Given the description of an element on the screen output the (x, y) to click on. 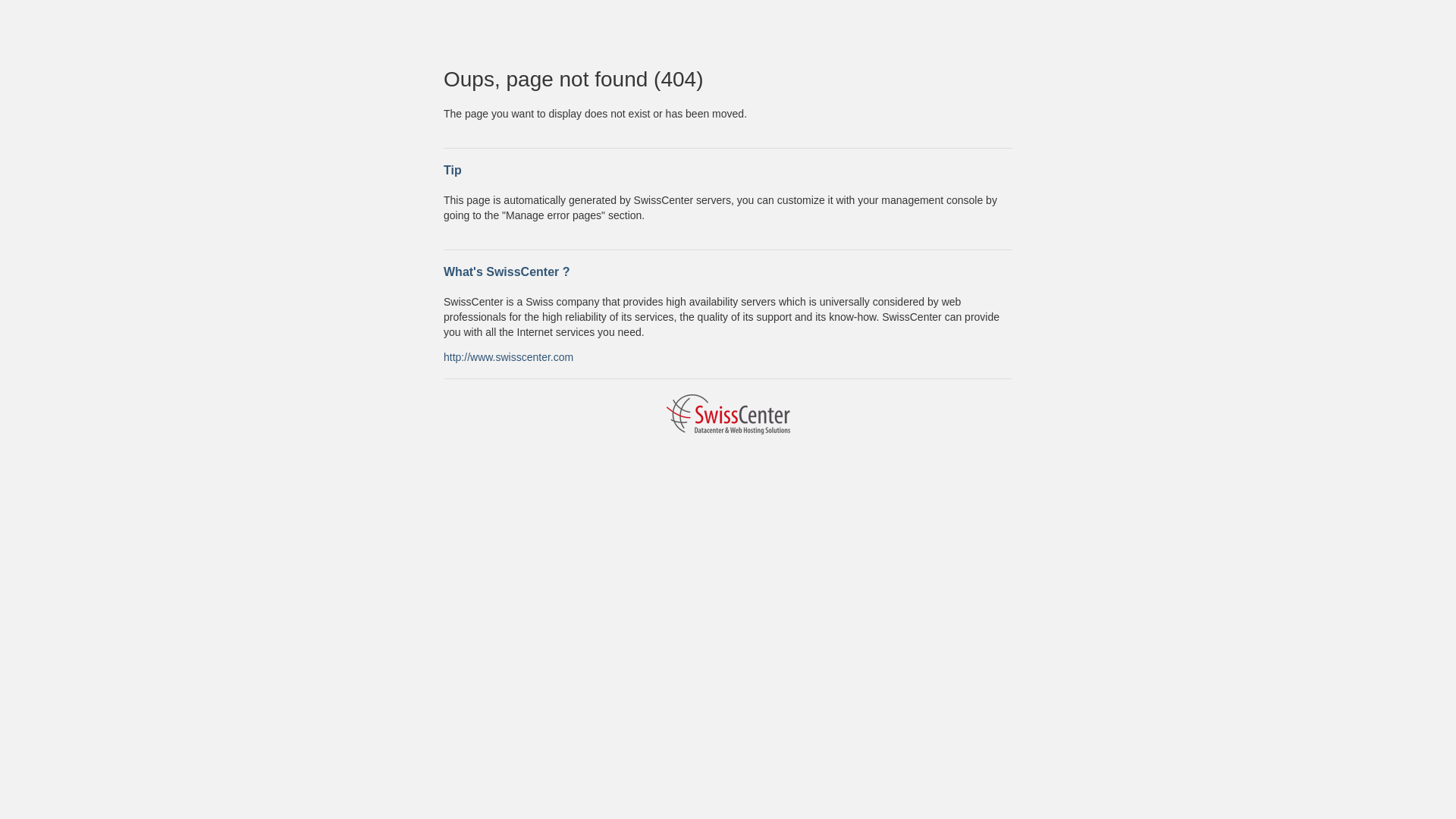
http://www.swisscenter.com Element type: text (508, 356)
